Given the description of an element on the screen output the (x, y) to click on. 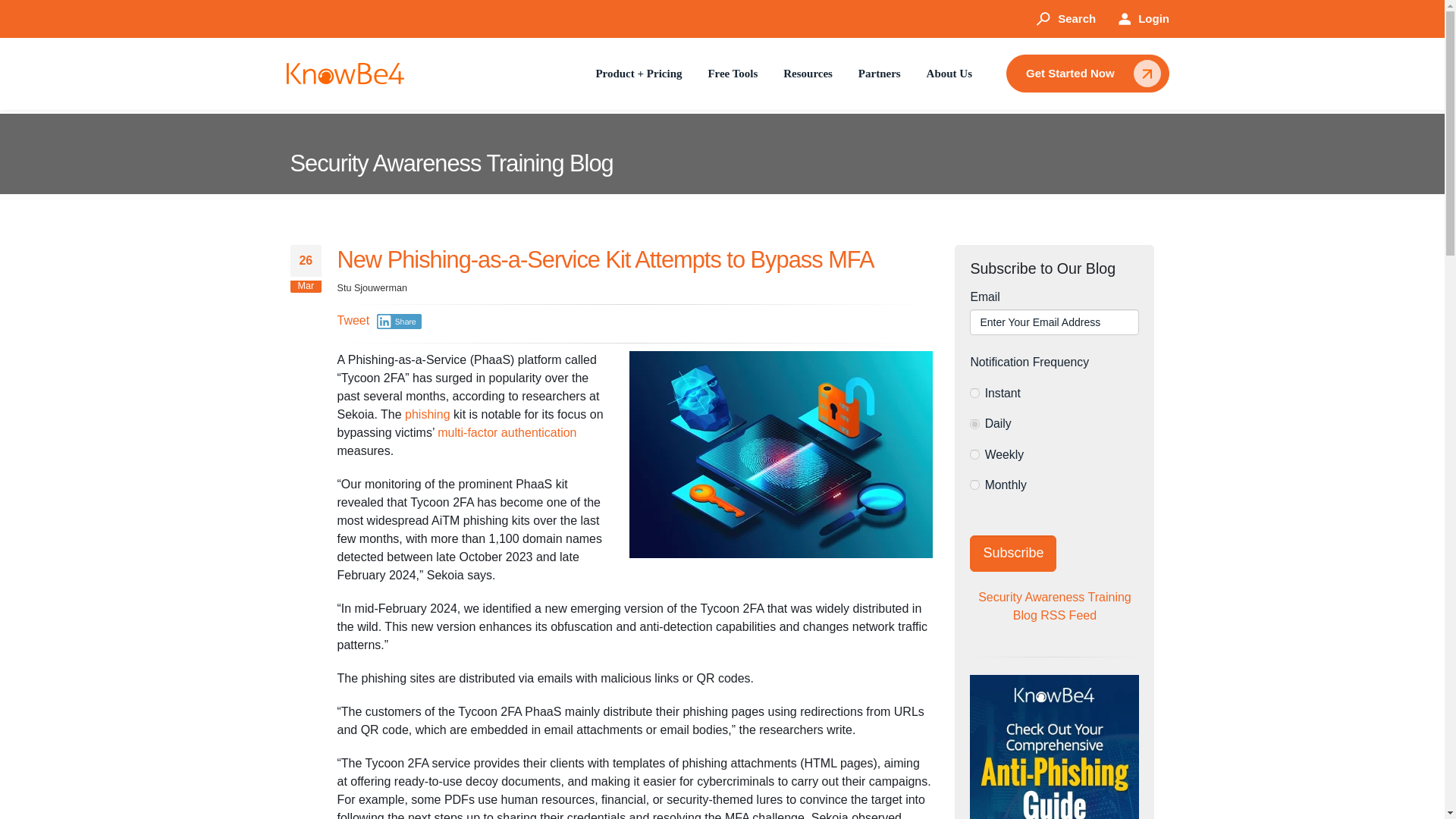
instant (974, 393)
weekly (974, 454)
header-logo (345, 73)
Subscribe (1013, 553)
daily (974, 424)
monthly (974, 484)
Get Started Now (1087, 73)
